Given the description of an element on the screen output the (x, y) to click on. 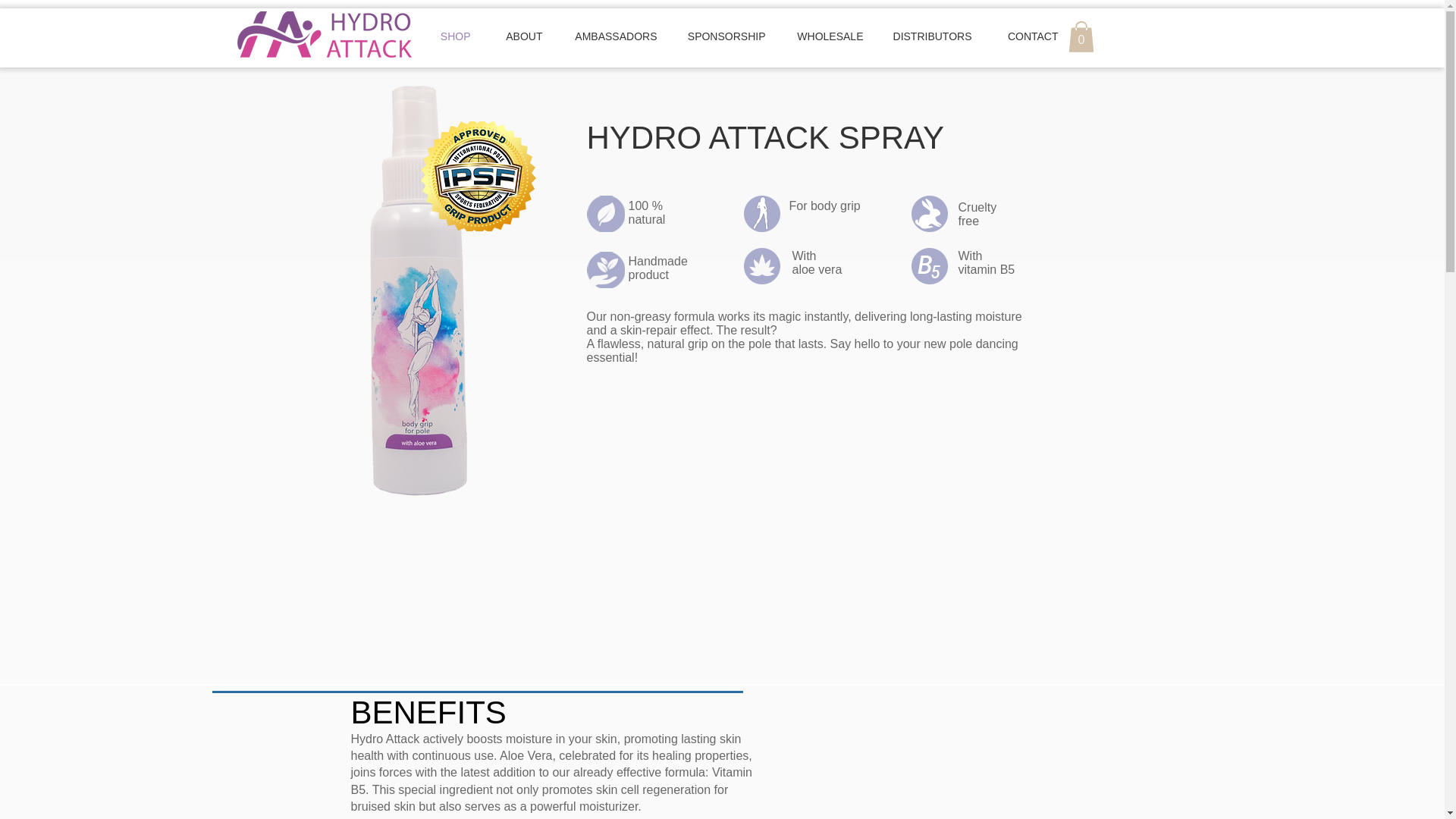
SPONSORSHIP (721, 36)
WHOLESALE (823, 36)
AMBASSADORS (608, 36)
External YouTube (962, 795)
CONTACT (1024, 36)
ABOUT (516, 36)
SHOP (447, 36)
0 (1080, 36)
0 (1080, 36)
DISTRIBUTORS (927, 36)
